Given the description of an element on the screen output the (x, y) to click on. 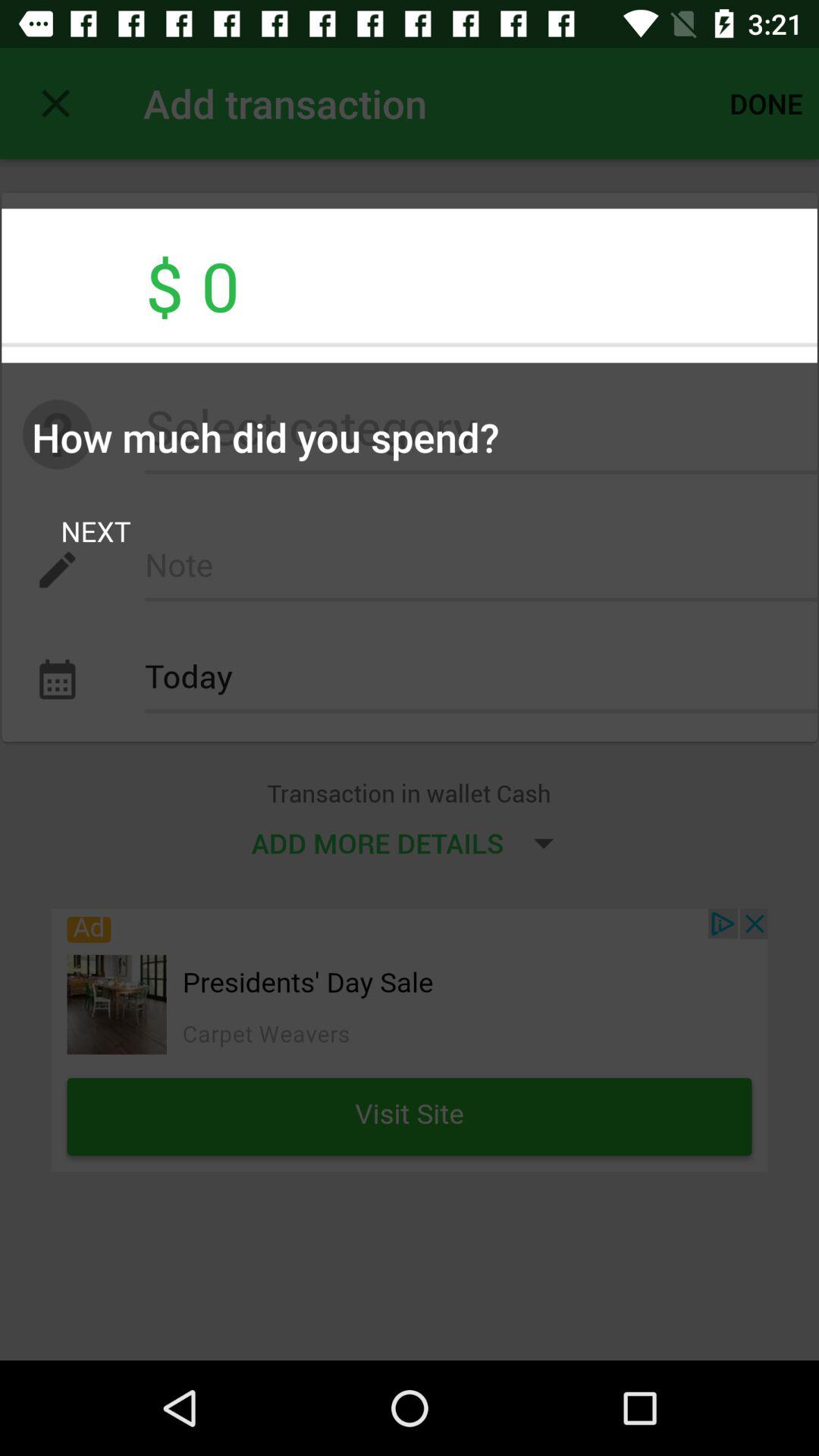
click the item below add more details (409, 1039)
